Given the description of an element on the screen output the (x, y) to click on. 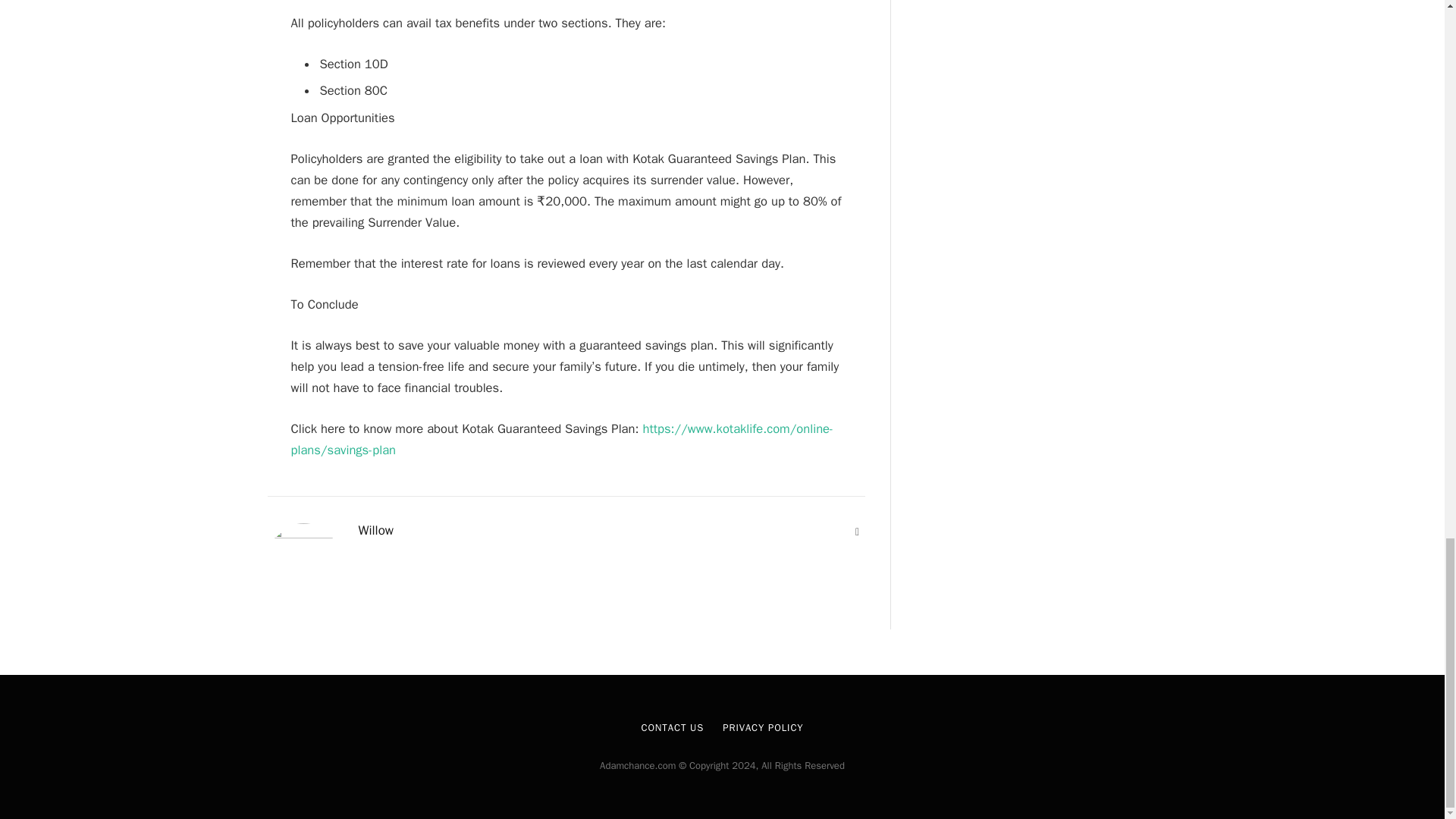
Willow (375, 530)
Website (856, 531)
Posts by Willow (375, 530)
Website (856, 531)
